Given the description of an element on the screen output the (x, y) to click on. 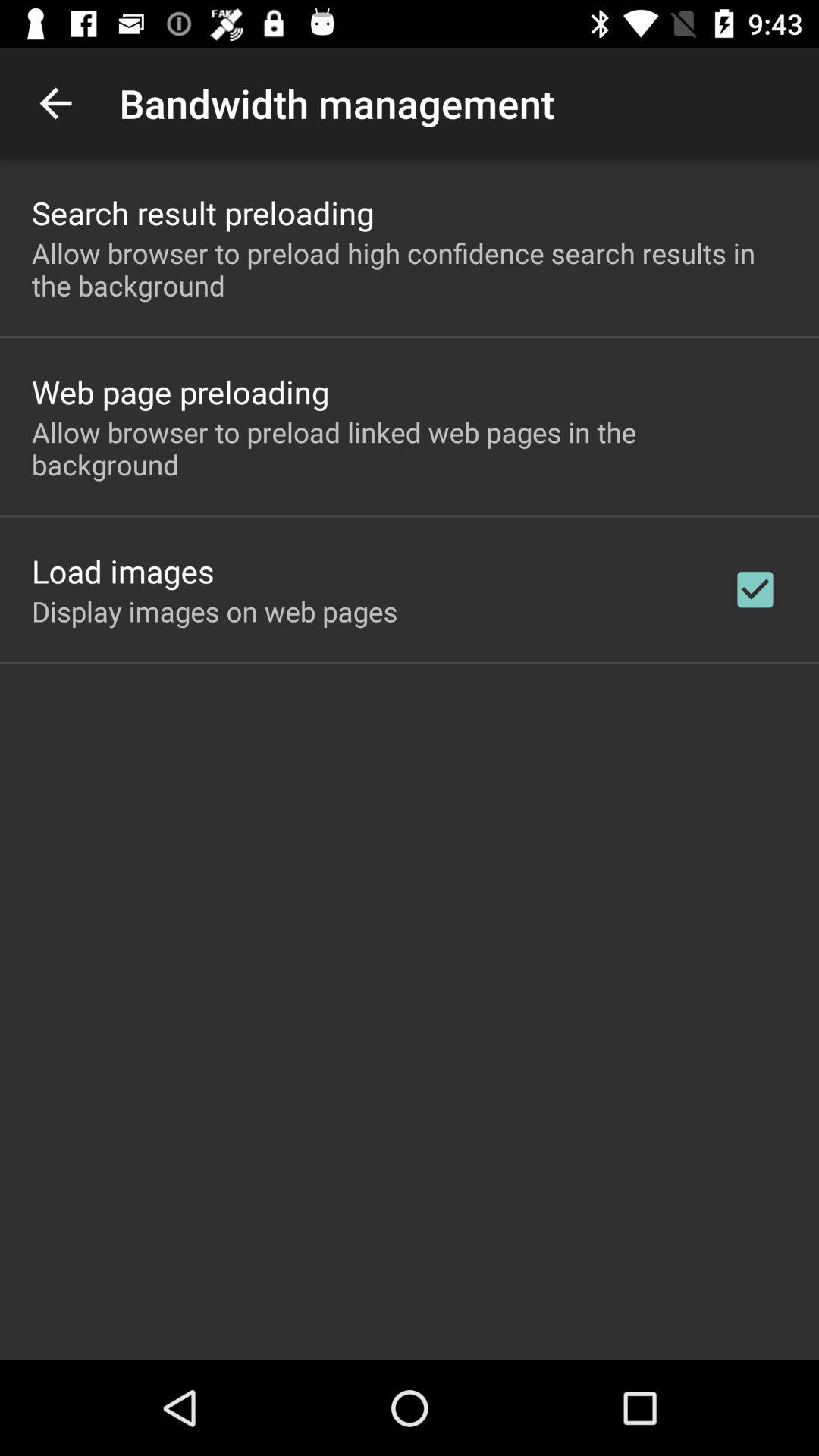
click item below allow browser to (122, 570)
